Given the description of an element on the screen output the (x, y) to click on. 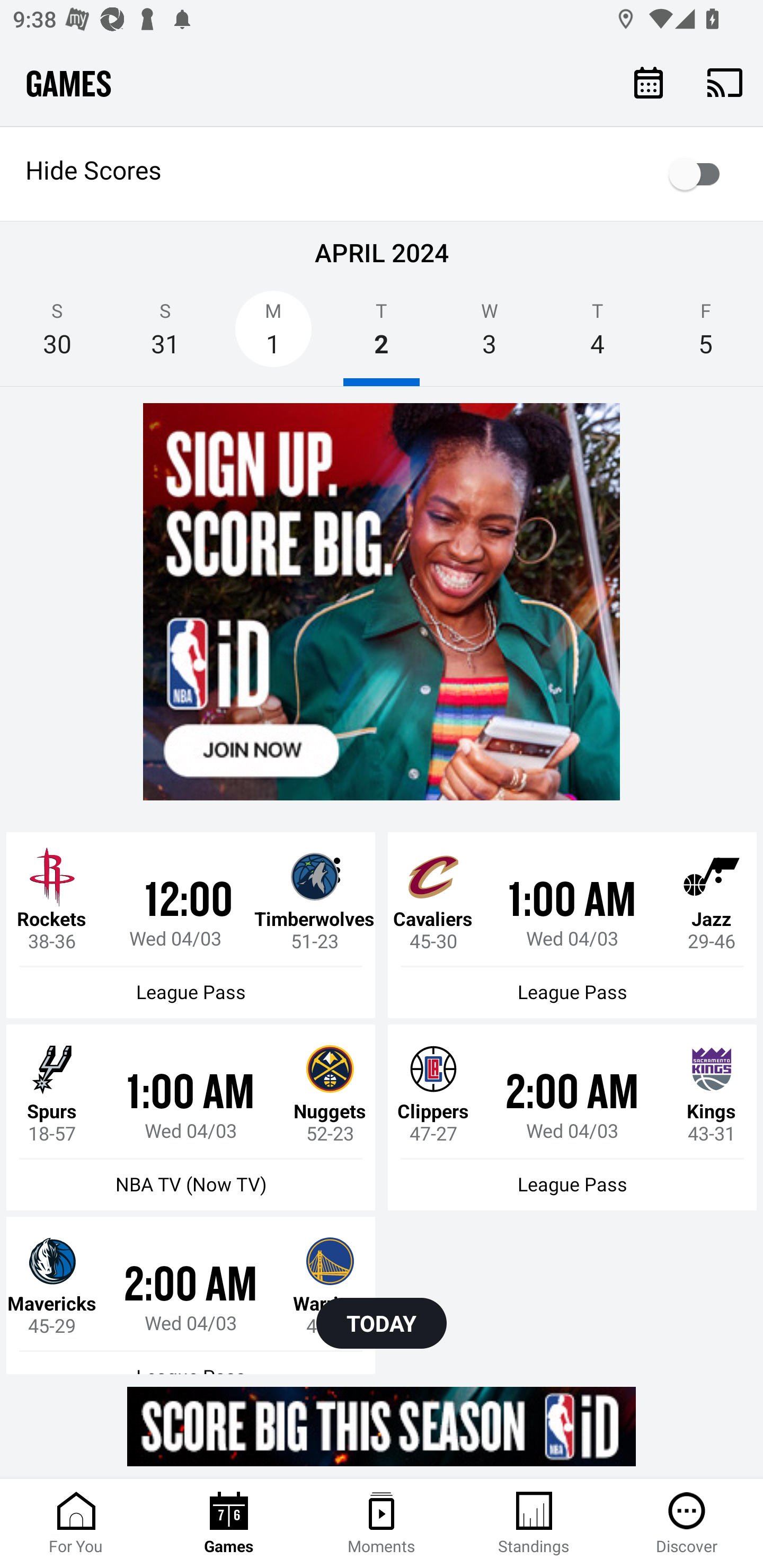
Cast. Disconnected (724, 82)
Calendar (648, 81)
Hide Scores (381, 174)
S 30 (57, 334)
S 31 (165, 334)
M 1 (273, 334)
T 2 (381, 334)
W 3 (489, 334)
T 4 (597, 334)
F 5 (705, 334)
g5nqqygr7owph (381, 600)
TODAY (381, 1323)
g5nqqygr7owph (381, 1426)
For You (76, 1523)
Moments (381, 1523)
Standings (533, 1523)
Discover (686, 1523)
